Given the description of an element on the screen output the (x, y) to click on. 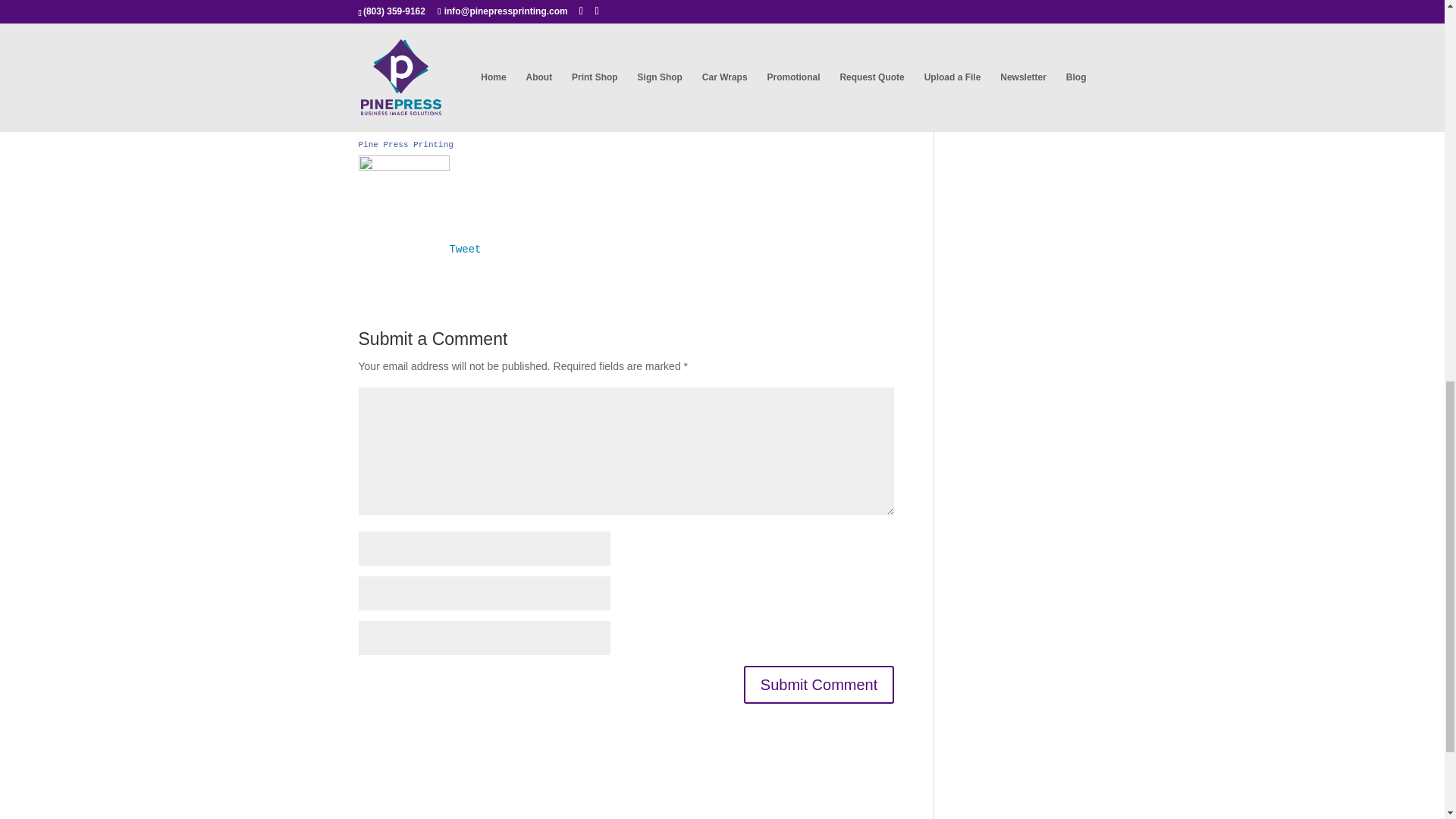
Pine Press Printing (405, 144)
Pine Press Printing (403, 249)
Submit Comment (819, 684)
Tweet (464, 249)
Pine Press Printing (405, 144)
Submit Comment (819, 684)
